Given the description of an element on the screen output the (x, y) to click on. 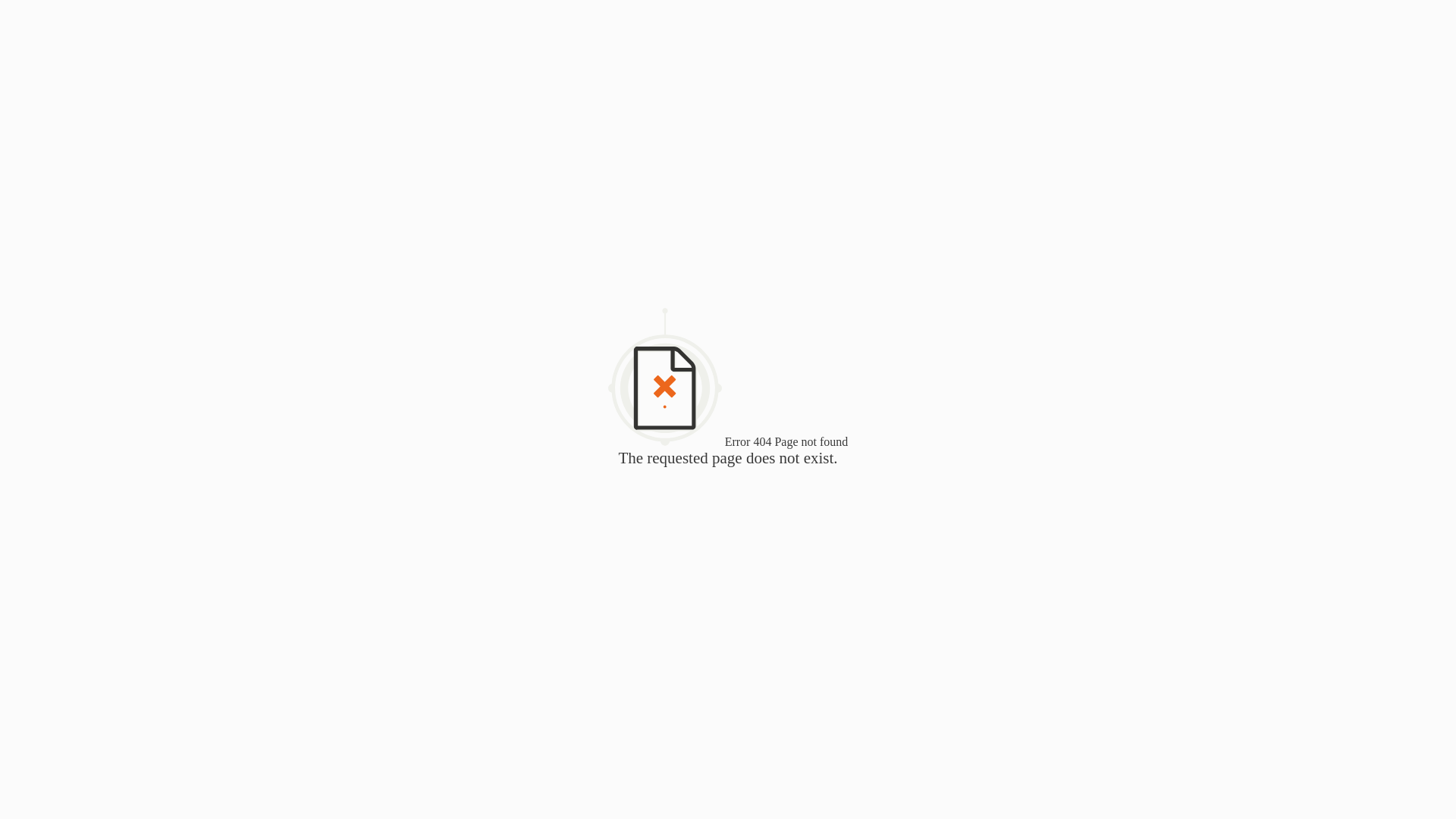
Error 404 Page not found
The requested page does not exist. Element type: text (727, 451)
